Given the description of an element on the screen output the (x, y) to click on. 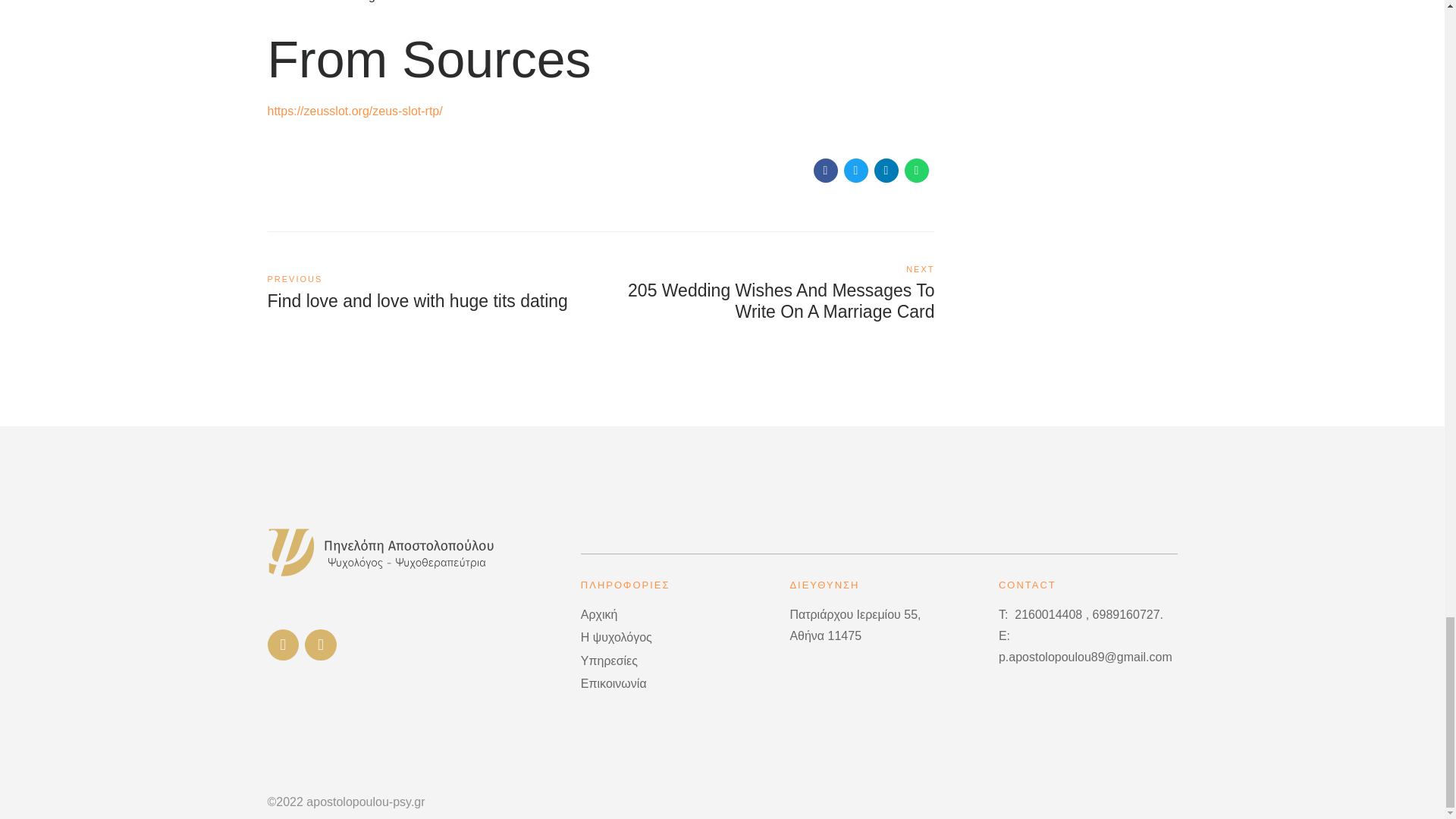
apostolopoulou-large1 (380, 551)
Share on Facebook (824, 170)
Share on Linkedin (885, 170)
Share on Twitter (855, 170)
Share on WhatsApp (432, 292)
